Given the description of an element on the screen output the (x, y) to click on. 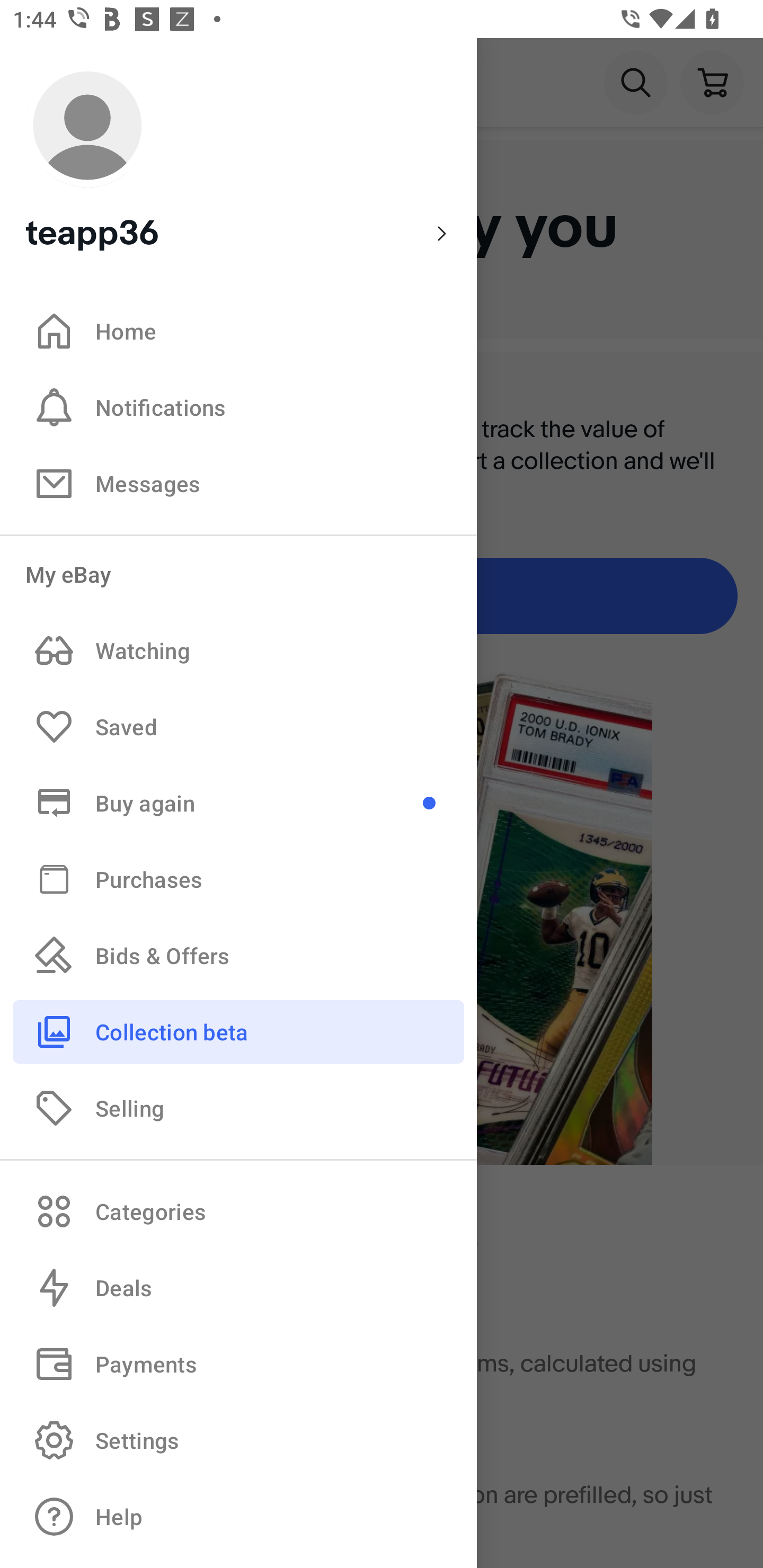
teapp36 (238, 158)
Home (238, 330)
Notifications (238, 406)
Messages (238, 483)
Watching (238, 650)
Saved (238, 726)
Buy again Is new feature (238, 802)
Purchases (238, 878)
Bids & Offers (238, 955)
Collection beta (238, 1031)
Selling (238, 1107)
Categories (238, 1210)
Deals (238, 1287)
Payments (238, 1363)
Settings (238, 1439)
Help (238, 1516)
